Given the description of an element on the screen output the (x, y) to click on. 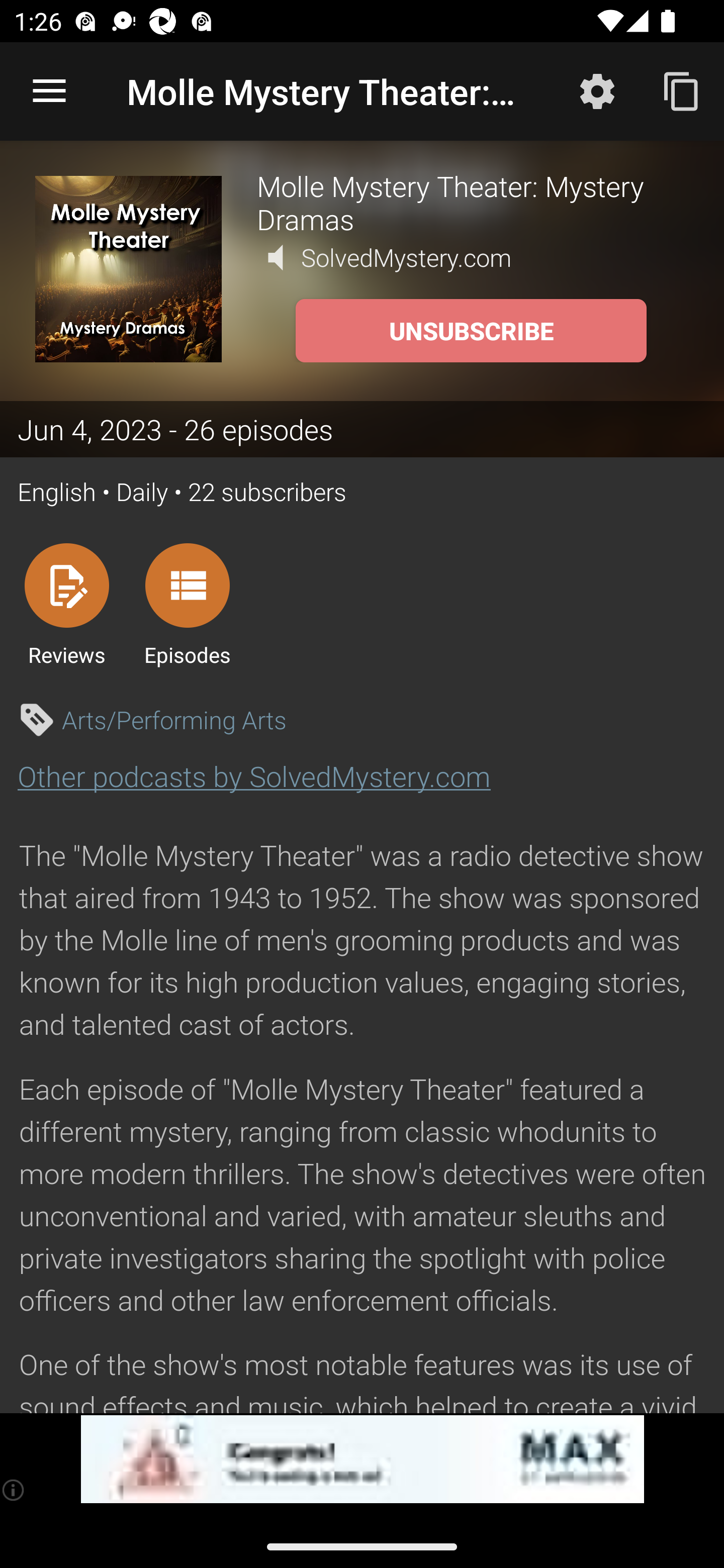
Open navigation sidebar (49, 91)
Settings (597, 90)
Copy feed url to clipboard (681, 90)
Molle Mystery Theater: Mystery Dramas (472, 202)
UNSUBSCRIBE (470, 330)
Reviews (66, 604)
Episodes (187, 604)
Other podcasts by SolvedMystery.com (253, 775)
app-monetization (362, 1459)
(i) (14, 1489)
